Given the description of an element on the screen output the (x, y) to click on. 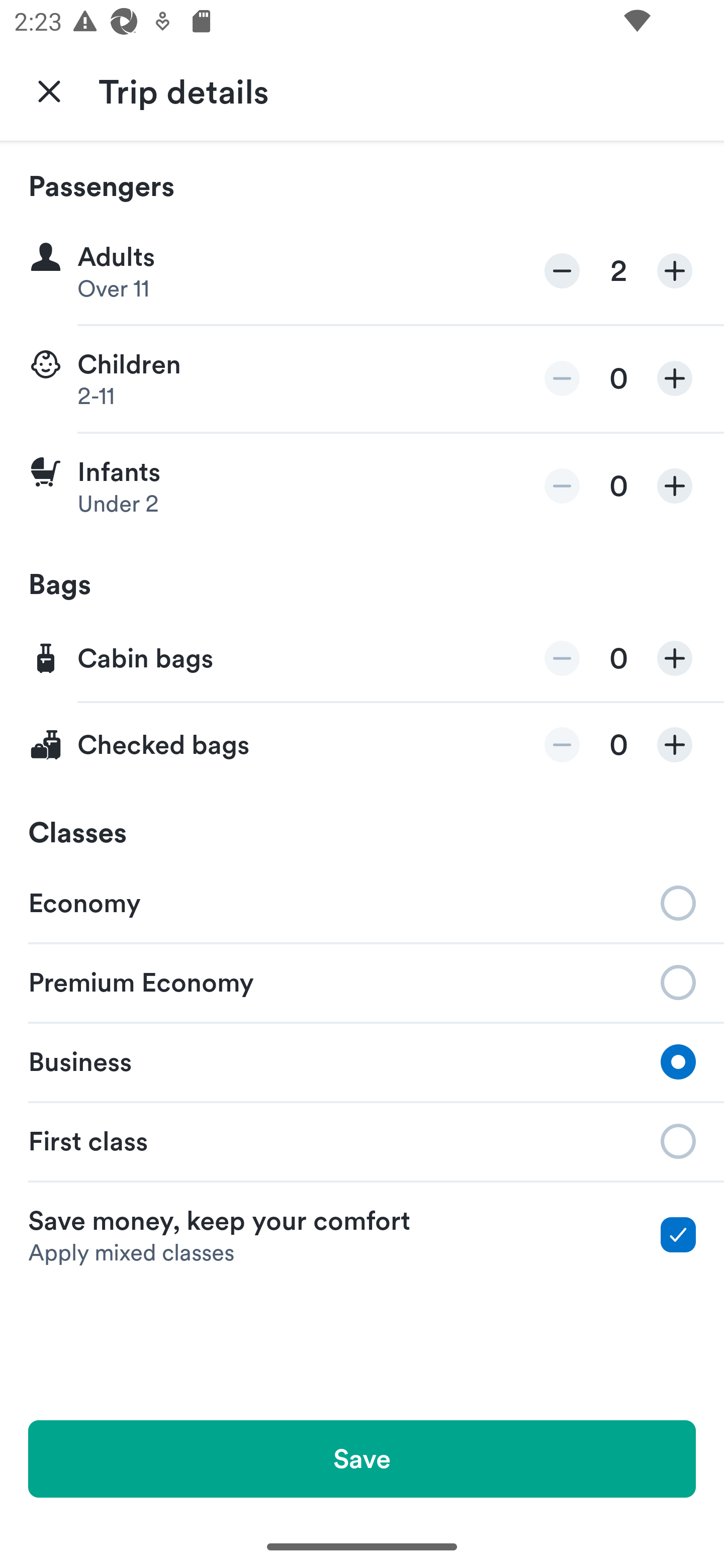
Navigate up (49, 90)
Remove 2 Add Adults Over 11 (362, 271)
Remove (561, 270)
Add (674, 270)
Remove 0 Add Children 2-11 (362, 379)
Remove (561, 377)
Add (674, 377)
Remove 0 Add Infants Under 2 (362, 485)
Remove (561, 485)
Add (674, 485)
Remove 0 Add Cabin bags (362, 659)
Remove (561, 658)
Add (674, 658)
Remove 0 Add Checked bags (362, 744)
Remove (561, 744)
Add (674, 744)
Economy (362, 901)
Premium Economy (362, 980)
First class (362, 1141)
Save (361, 1458)
